Given the description of an element on the screen output the (x, y) to click on. 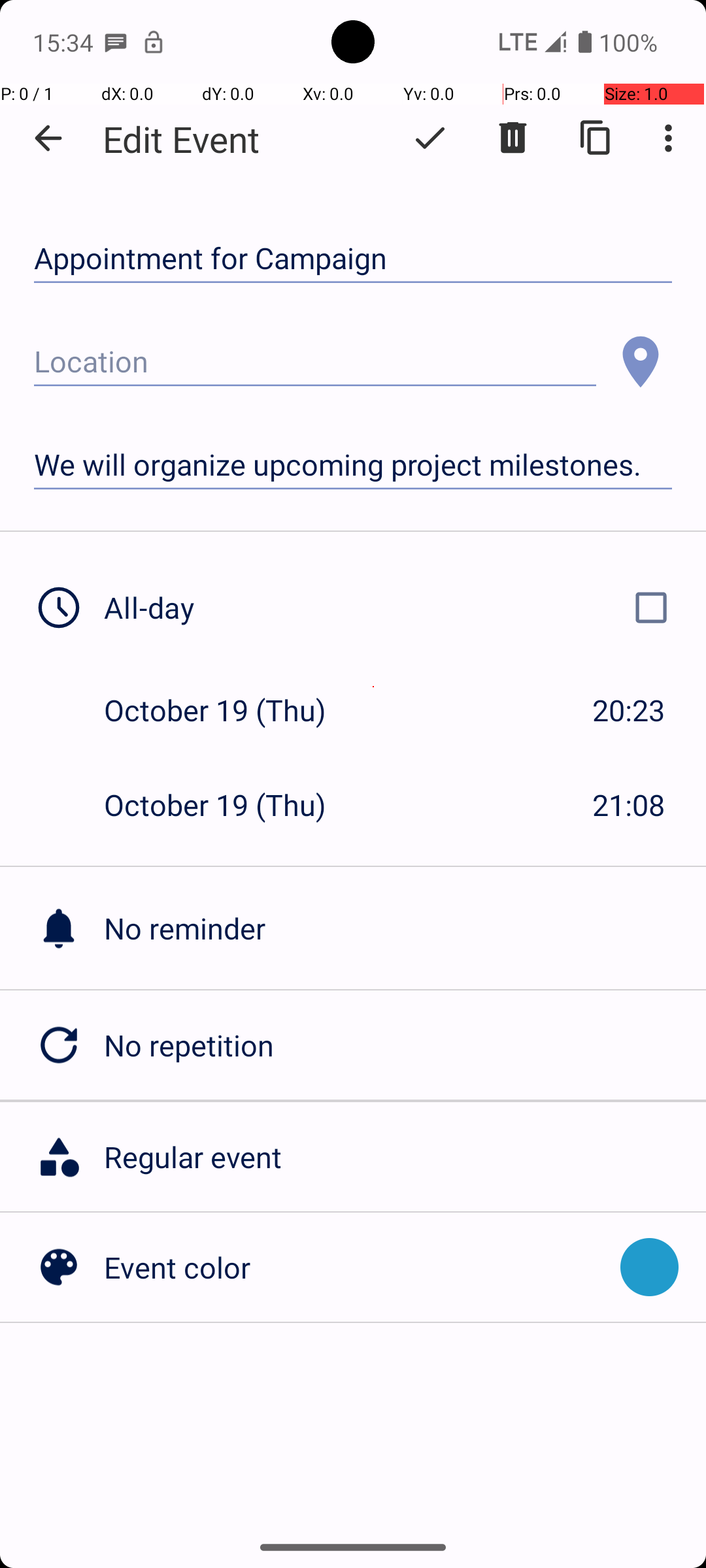
We will organize upcoming project milestones. Element type: android.widget.EditText (352, 465)
October 19 (Thu) Element type: android.widget.TextView (228, 709)
20:23 Element type: android.widget.TextView (628, 709)
21:08 Element type: android.widget.TextView (628, 804)
